Given the description of an element on the screen output the (x, y) to click on. 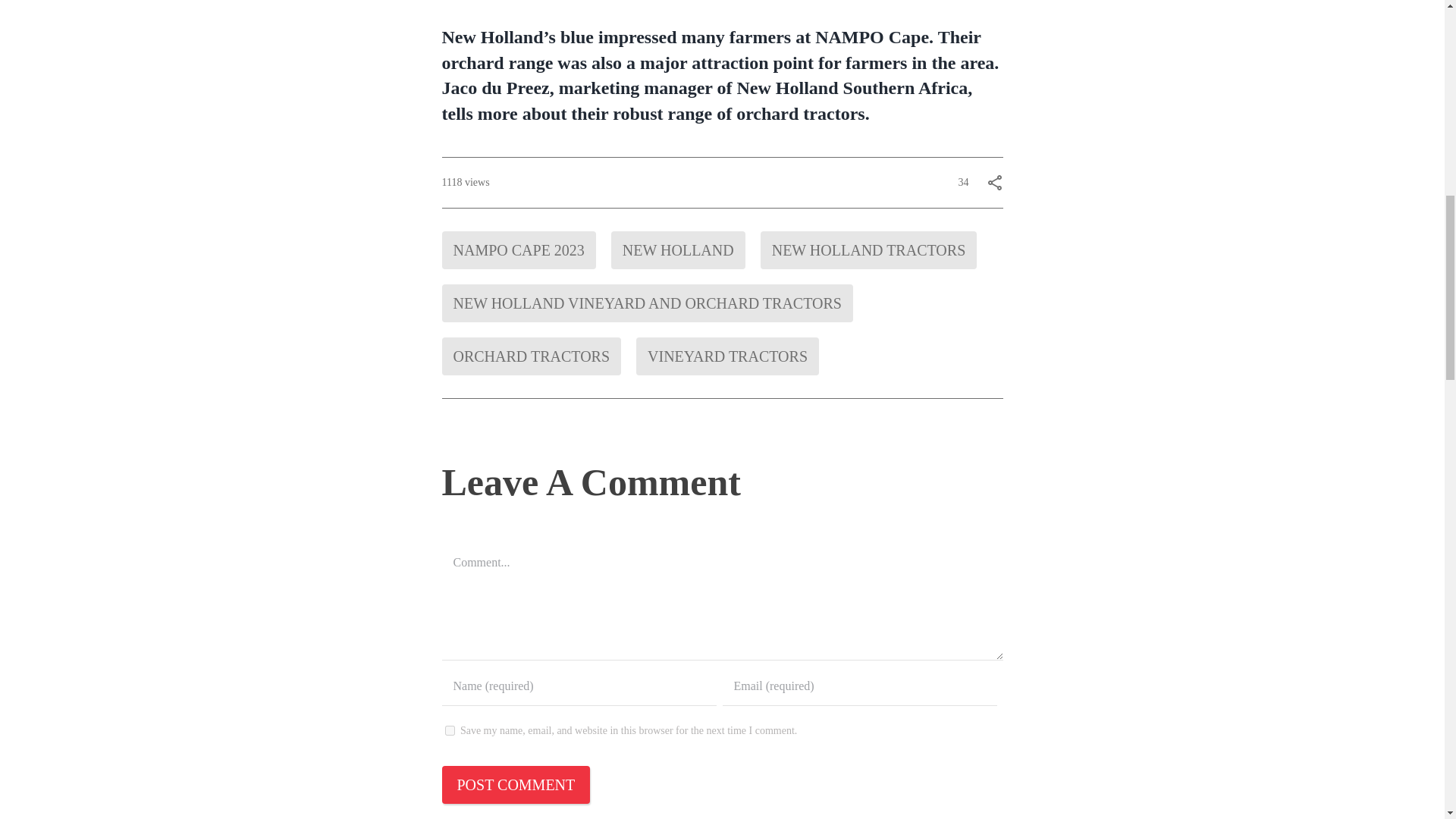
yes (449, 730)
Post Comment (515, 784)
Like (944, 180)
